Given the description of an element on the screen output the (x, y) to click on. 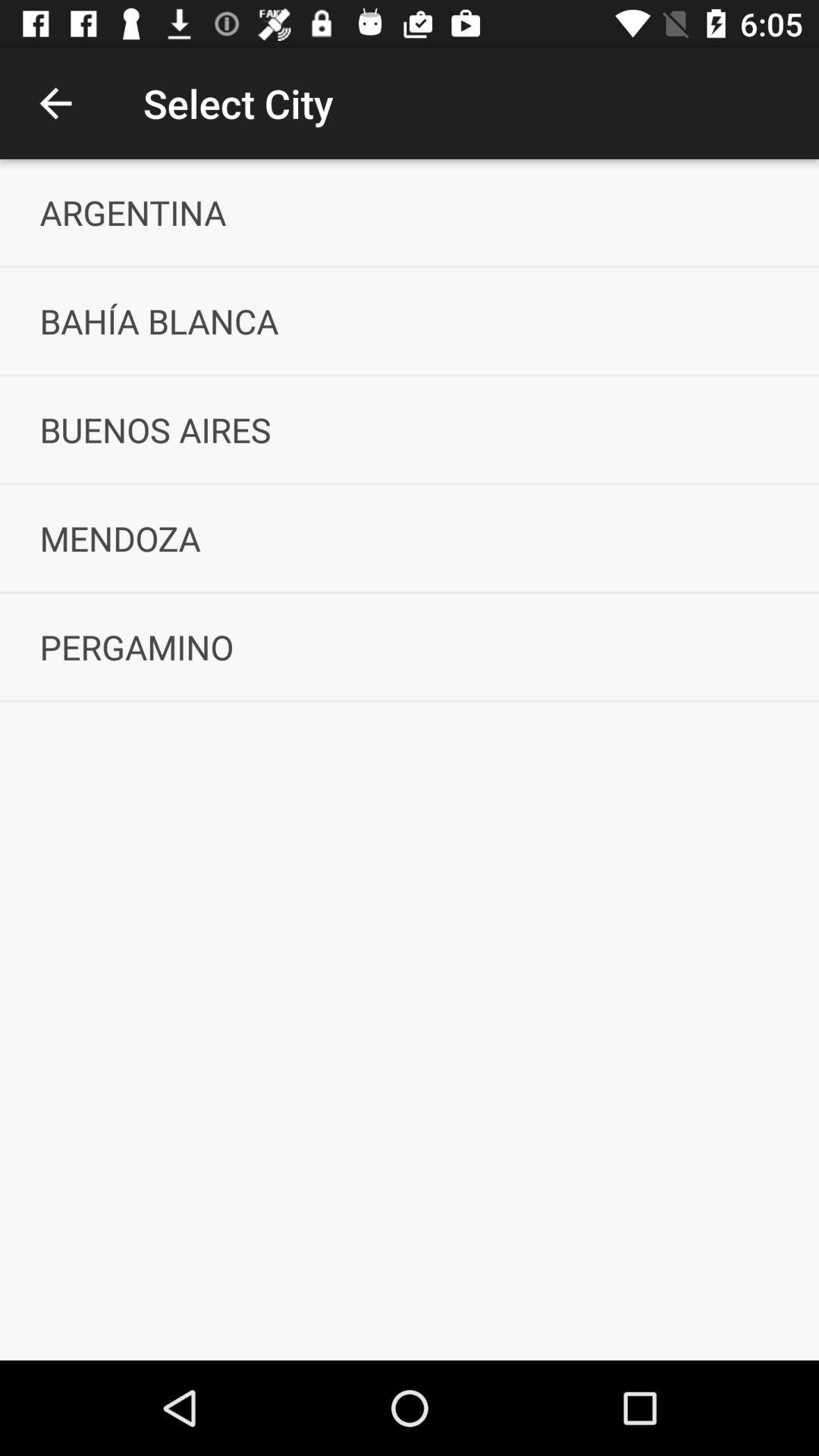
jump until the buenos aires (409, 429)
